Given the description of an element on the screen output the (x, y) to click on. 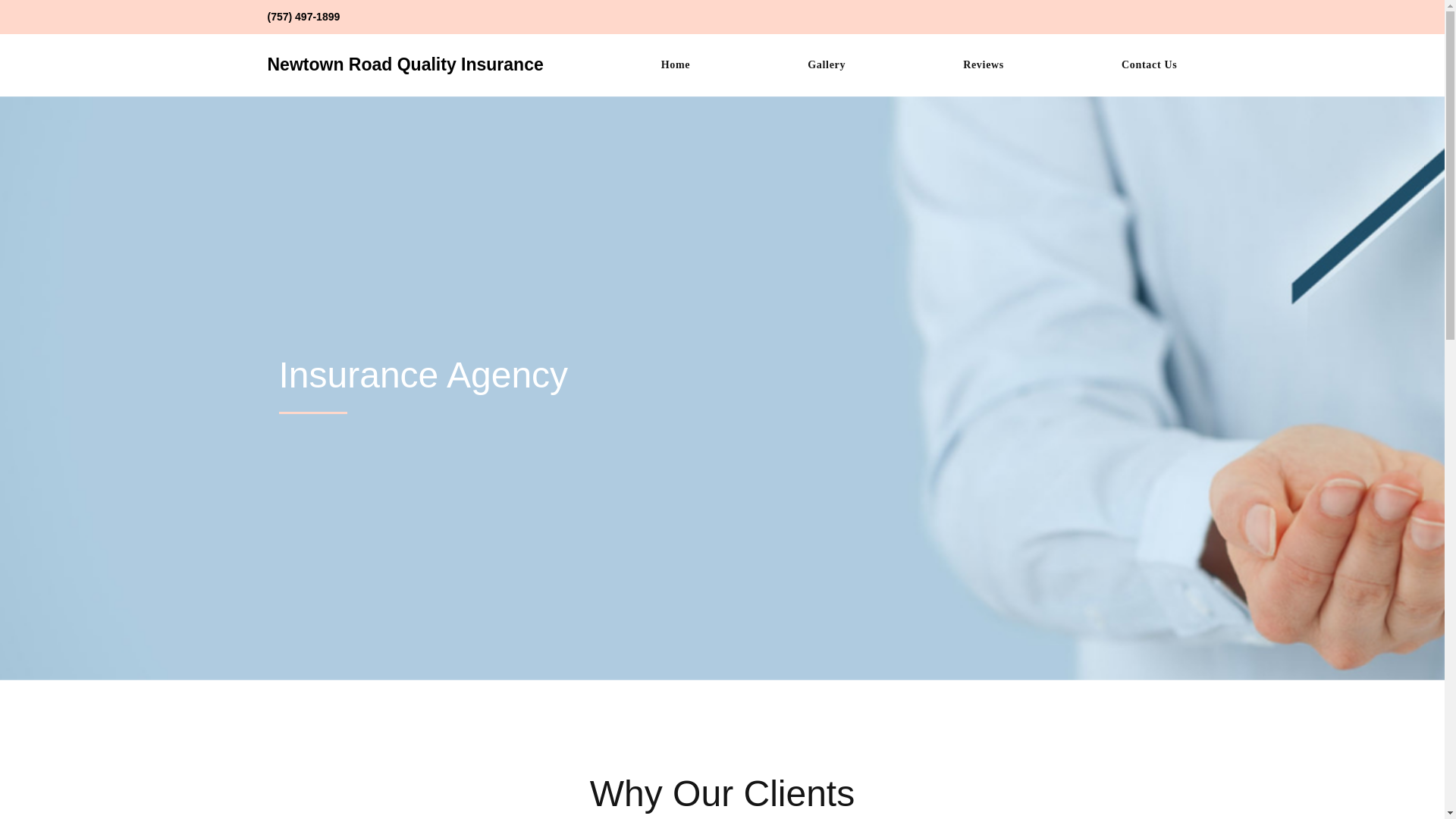
Newtown Road Quality Insurance (404, 64)
Home (675, 65)
Contact Us (1149, 65)
Gallery (826, 65)
Reviews (983, 65)
